Given the description of an element on the screen output the (x, y) to click on. 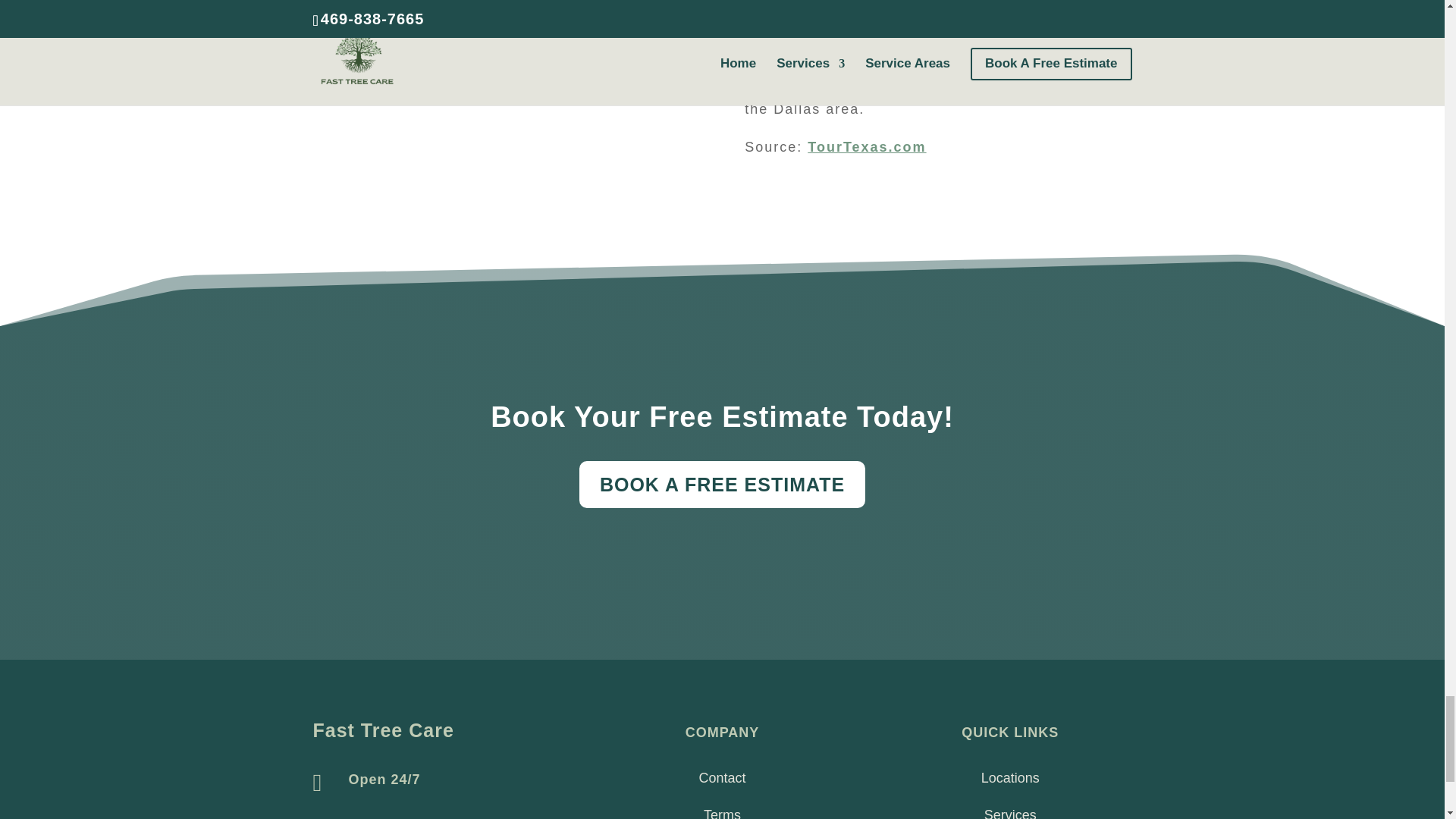
TourTexas.com (867, 146)
Locations (1010, 777)
Services (1010, 813)
BOOK A FREE ESTIMATE (721, 484)
Terms (722, 813)
Contact (721, 777)
The Harbor Rockwall (1003, 59)
